Given the description of an element on the screen output the (x, y) to click on. 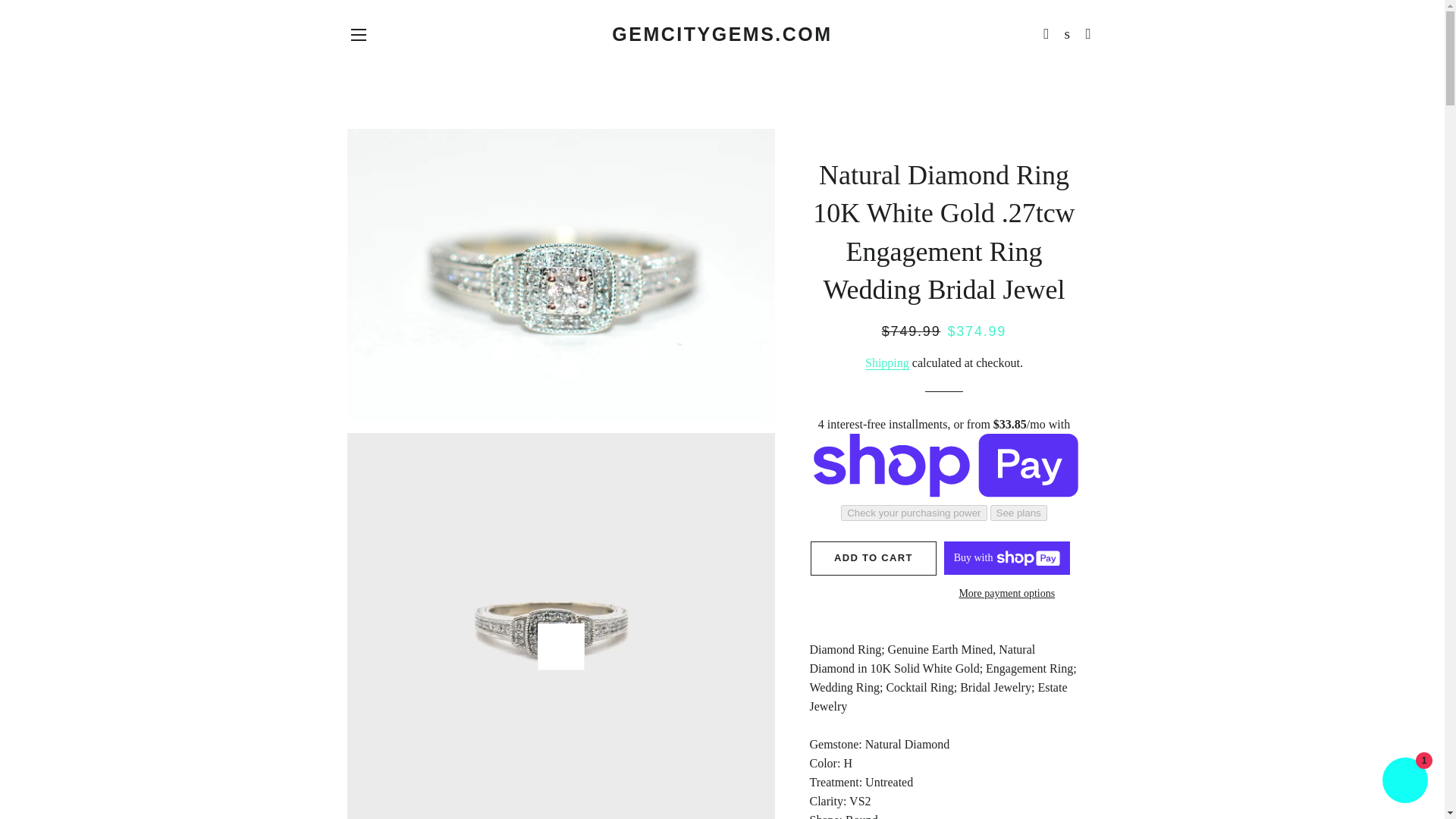
Shopify online store chat (1404, 781)
GEMCITYGEMS.COM (721, 34)
Play (561, 646)
More payment options (1006, 593)
Shipping (886, 363)
SITE NAVIGATION (358, 34)
ADD TO CART (873, 557)
